Given the description of an element on the screen output the (x, y) to click on. 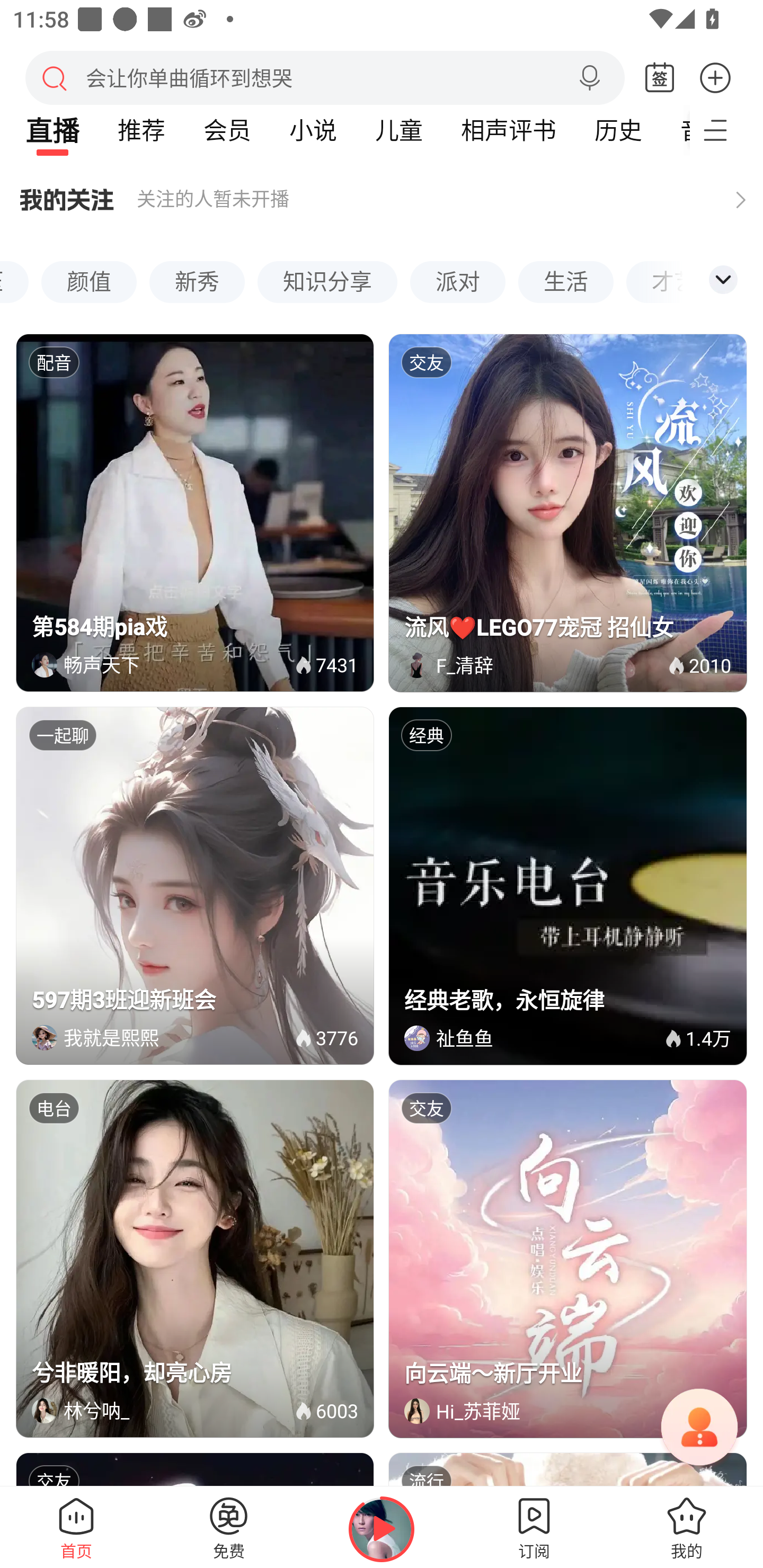
搜索 会让你单曲循环到想哭 语音搜索 (324, 77)
更多 (714, 77)
签到 (659, 78)
语音搜索 (589, 78)
直播 (52, 130)
推荐 (141, 130)
会员 (227, 130)
小说 (313, 130)
儿童 (398, 130)
相声评书 (508, 130)
历史 (618, 130)
更多频道 (726, 130)
关注的人暂未开播 (381, 191)
颜值 (88, 267)
新秀 (196, 267)
知识分享 (327, 267)
派对 (457, 267)
生活 (565, 267)
更多分类 (722, 279)
主播畅声天下的直播间，直播标题是第584期pia戏，直播分类标签是配音 (194, 512)
主播F_清辞的直播间，直播标题是流风❤LEGO77宠冠 招仙女，直播分类标签是交友 (567, 513)
第584期pia戏 (196, 626)
流风❤LEGO77宠冠 招仙女 (568, 626)
畅声天下 (178, 664)
F_清辞 (551, 664)
主播我就是熙熙的直播间，直播标题是597期3班迎新班会，直播分类标签是一起聊 (194, 885)
主播祉鱼鱼的直播间，直播标题是经典老歌，永恒旋律，直播分类标签是经典 (567, 885)
597期3班迎新班会 (196, 999)
经典老歌，永恒旋律 (568, 1000)
我就是熙熙 (178, 1036)
祉鱼鱼 (549, 1037)
主播林兮呐_的直播间，直播标题是兮非暖阳，却亮心房，直播分类标签是电台 (194, 1258)
主播Hi_苏菲娅的直播间，直播标题是向云端～新厅开业，直播分类标签是交友 (567, 1258)
兮非暖阳，却亮心房 (196, 1371)
向云端～新厅开业 (568, 1373)
林兮呐_ (178, 1410)
Hi_苏菲娅 (551, 1410)
首页 (76, 1526)
免费 (228, 1526)
订阅 (533, 1526)
我的 (686, 1526)
继续播放Alpha-橘子海OrangeOcean (381, 1529)
